Given the description of an element on the screen output the (x, y) to click on. 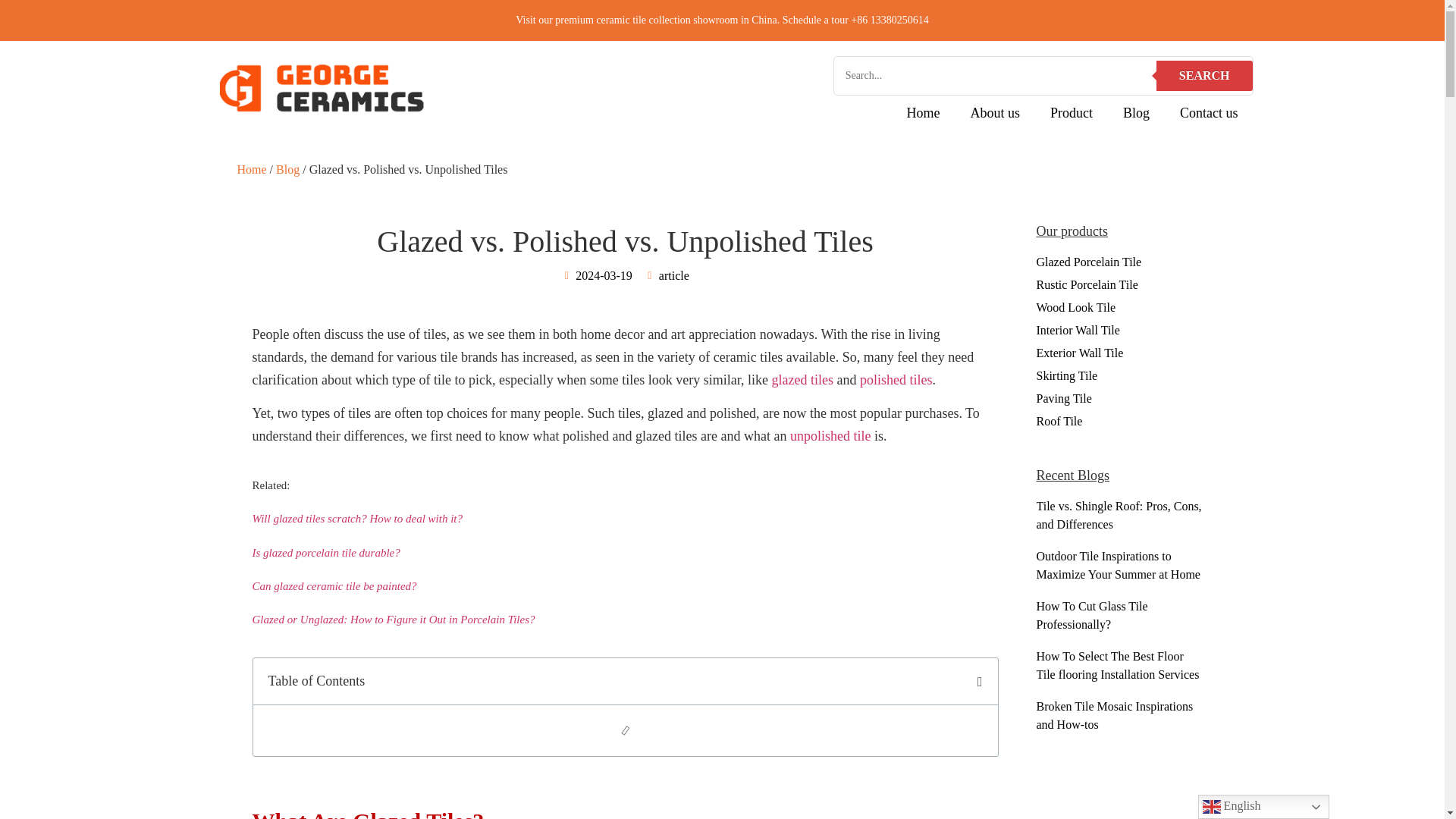
Can glazed ceramic tile be painted? (333, 585)
About us (995, 112)
polished tiles (896, 379)
Contact us (1208, 112)
unpolished tile (830, 435)
glazed tiles (801, 379)
Blog (287, 169)
Product (1071, 112)
Blog (1136, 112)
Is glazed porcelain tile durable? (324, 552)
